Given the description of an element on the screen output the (x, y) to click on. 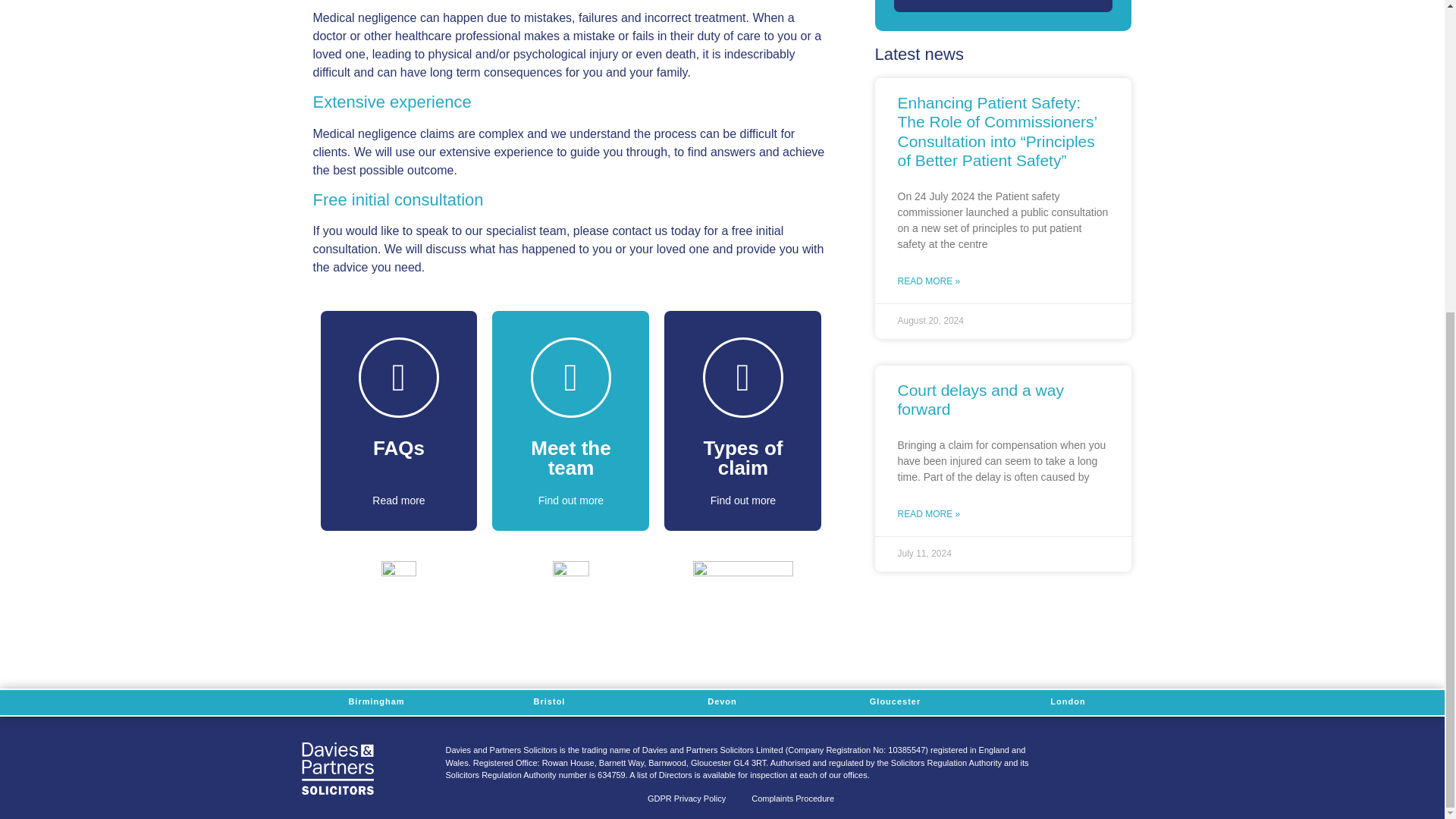
Send Now (1002, 6)
GDPR Privacy Policy (686, 798)
Bristol (550, 702)
Devon (721, 702)
Court delays and a way forward (981, 399)
Gloucester (894, 702)
London (1066, 702)
Complaints Procedure (792, 798)
Birmingham (375, 702)
